Given the description of an element on the screen output the (x, y) to click on. 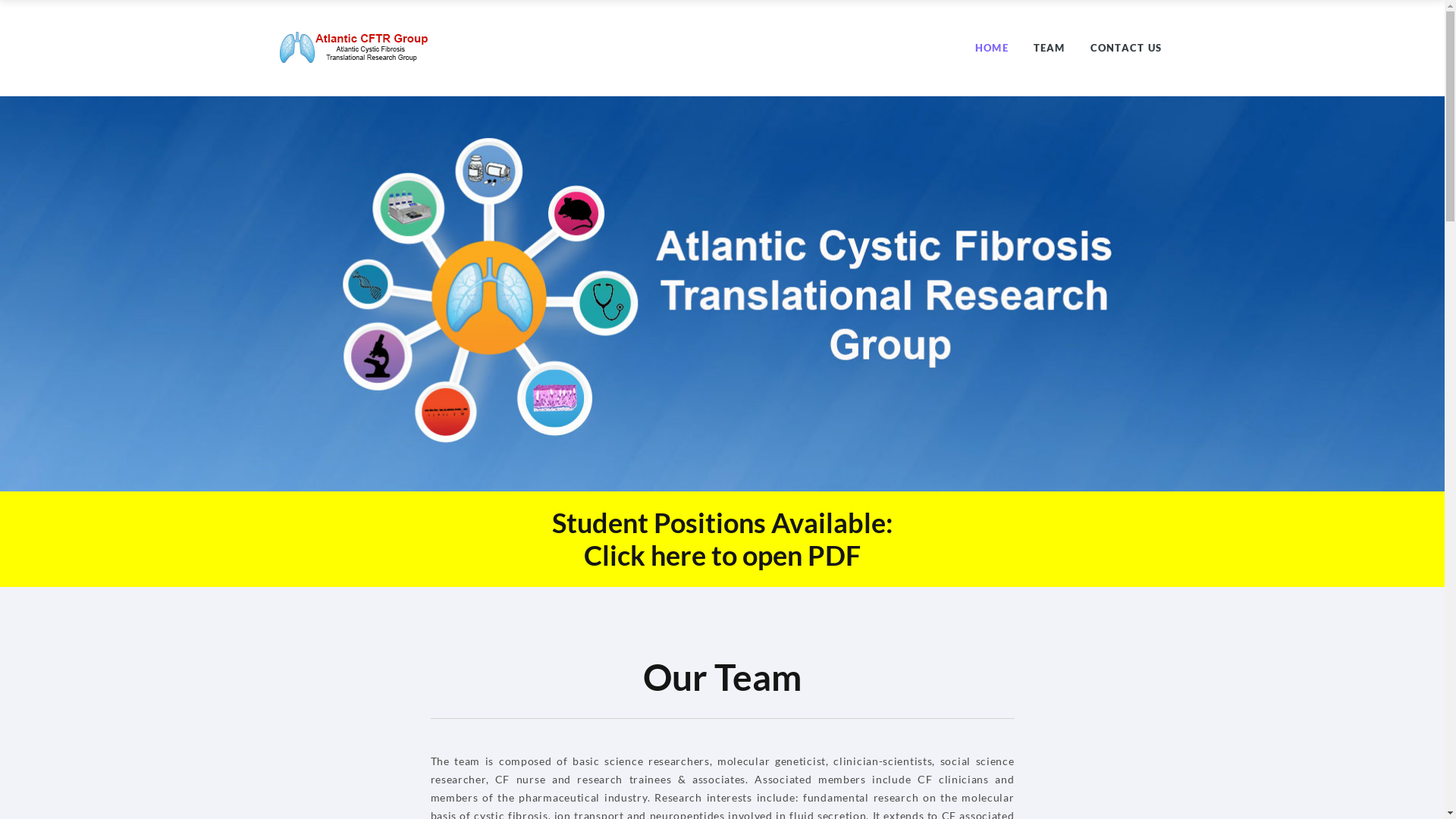
CONTACT US Element type: text (1126, 47)
TEAM Element type: text (1049, 47)
Click here to open PDF Element type: text (721, 554)
HOME Element type: text (991, 47)
